Given the description of an element on the screen output the (x, y) to click on. 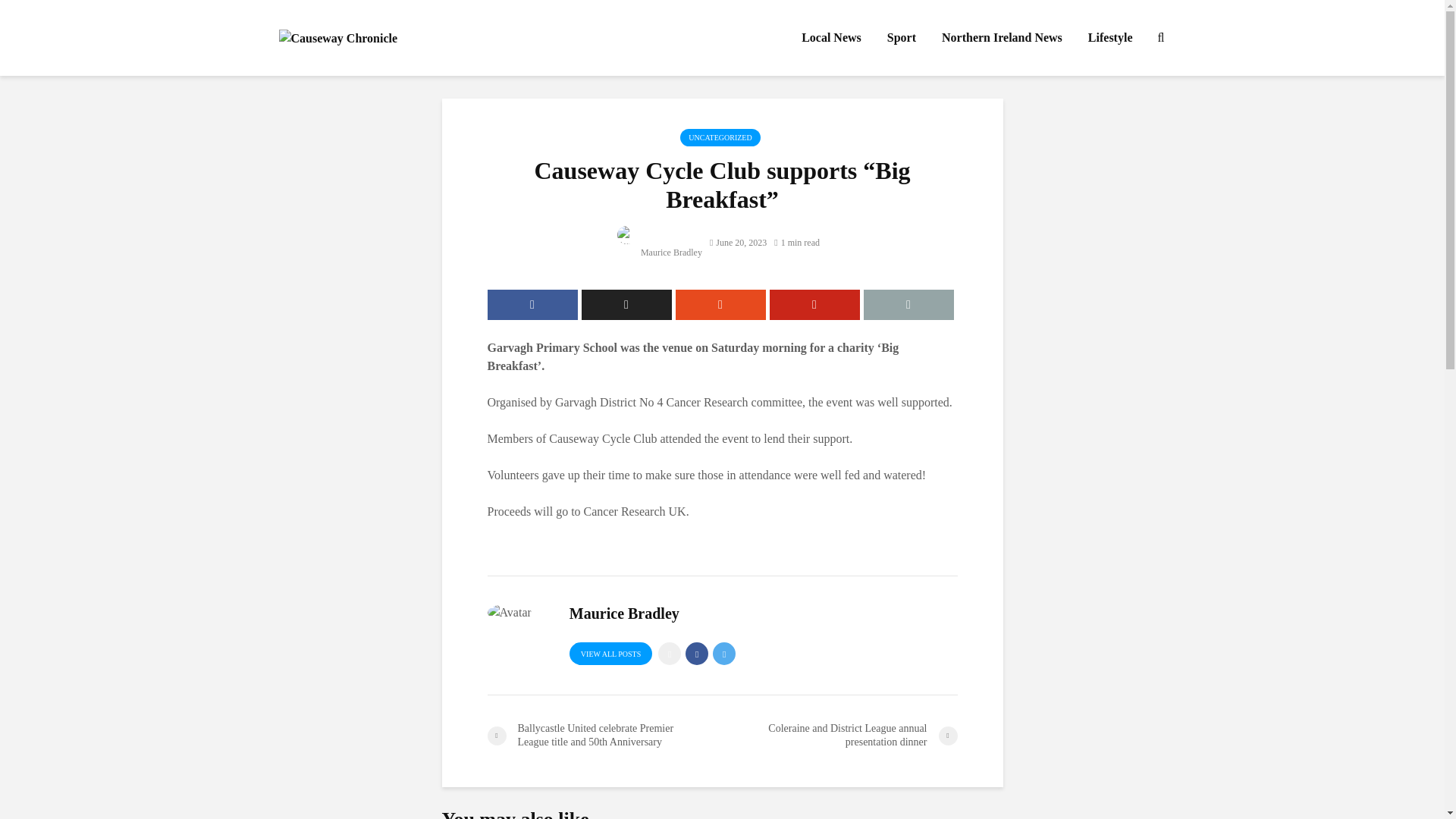
UNCATEGORIZED (719, 137)
VIEW ALL POSTS (610, 653)
Sport (901, 37)
Coleraine and District League annual presentation dinner (839, 735)
Local News (831, 37)
Northern Ireland News (1002, 37)
Lifestyle (1110, 37)
Maurice Bradley (659, 252)
